Given the description of an element on the screen output the (x, y) to click on. 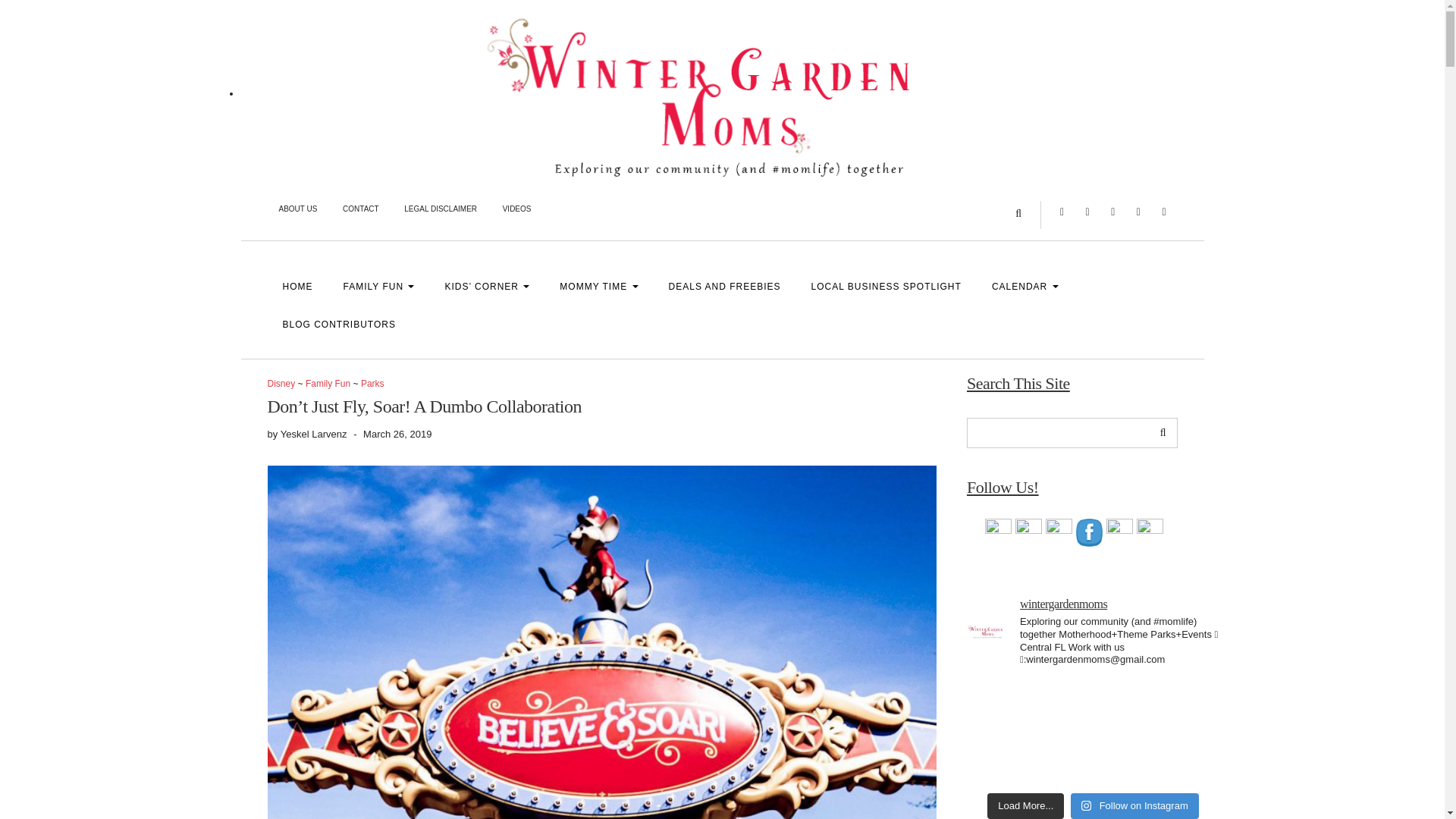
Twitter (1163, 210)
Pinterest (1112, 210)
Facebook (1087, 210)
CONTACT (360, 210)
ABOUT US (297, 210)
Instagram (1061, 210)
Disney (280, 383)
LOCAL BUSINESS SPOTLIGHT (886, 286)
YouTube (1138, 210)
CALENDAR (1025, 286)
Family Fun (327, 383)
FAMILY FUN (378, 286)
MOMMY TIME (598, 286)
HOME (296, 286)
VIDEOS (517, 210)
